Given the description of an element on the screen output the (x, y) to click on. 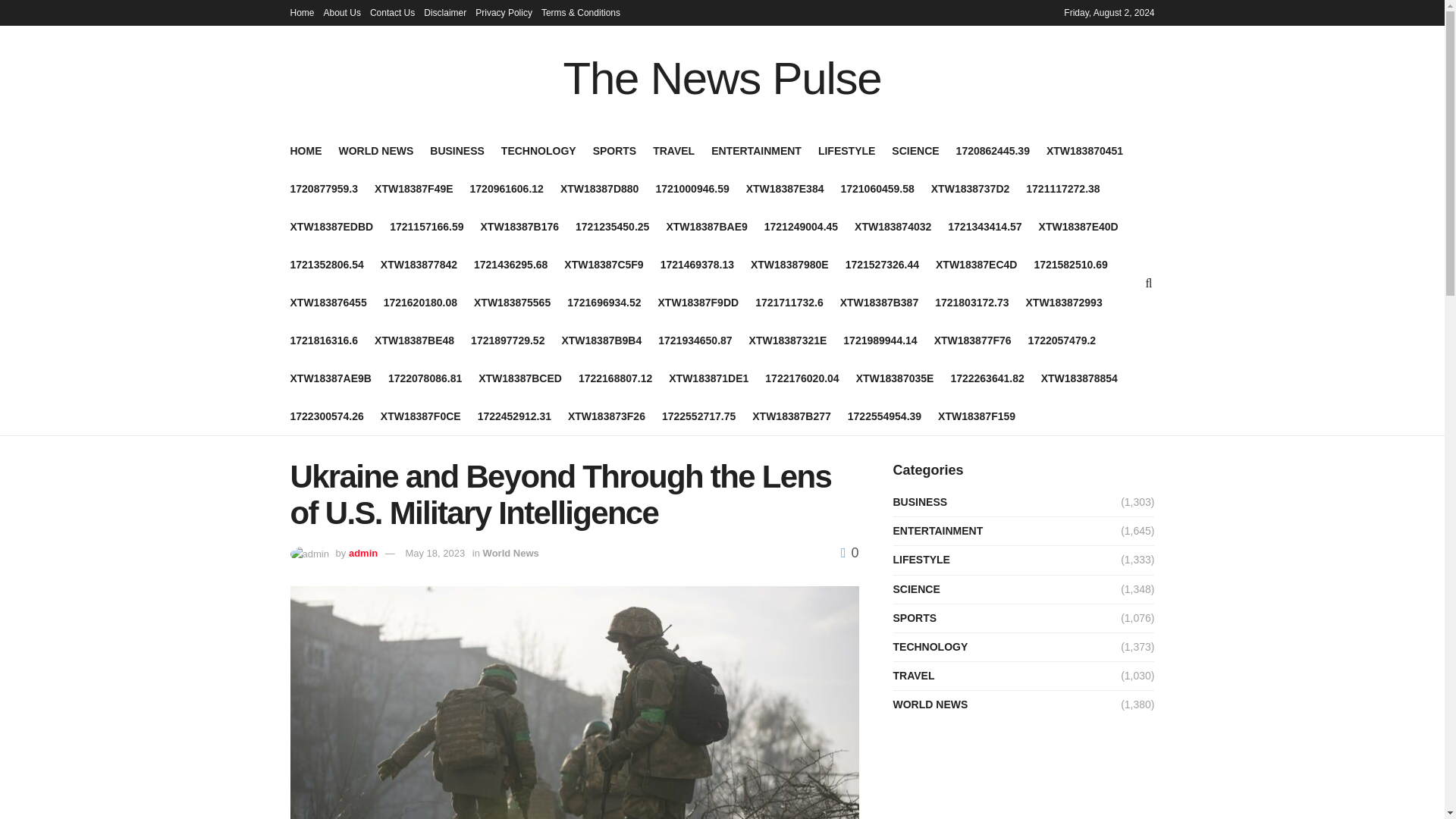
1720961606.12 (506, 188)
Disclaimer (444, 12)
XTW18387E384 (784, 188)
1720877959.3 (323, 188)
XTW18387BAE9 (705, 226)
1721060459.58 (877, 188)
1721352806.54 (325, 264)
XTW18387B176 (519, 226)
XTW18387EDBD (330, 226)
XTW18387E40D (1078, 226)
WORLD NEWS (375, 150)
1721436295.68 (510, 264)
TRAVEL (673, 150)
SCIENCE (915, 150)
1720862445.39 (992, 150)
